Given the description of an element on the screen output the (x, y) to click on. 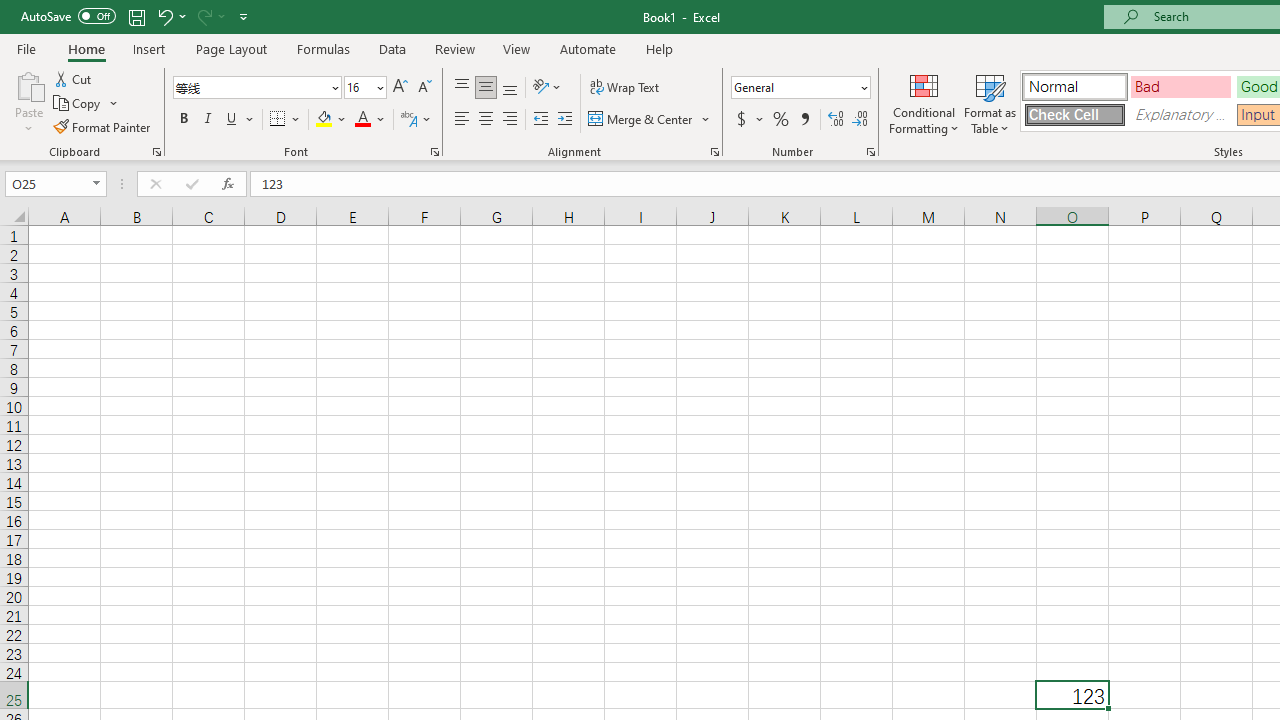
Decrease Decimal (859, 119)
Bad (1180, 86)
Conditional Formatting (924, 102)
Format Cell Number (870, 151)
Show Phonetic Field (408, 119)
Office Clipboard... (156, 151)
Number Format (800, 87)
Increase Decimal (836, 119)
Check Cell (1074, 114)
Accounting Number Format (749, 119)
Underline (232, 119)
Format Painter (103, 126)
Font Color RGB(255, 0, 0) (362, 119)
